Given the description of an element on the screen output the (x, y) to click on. 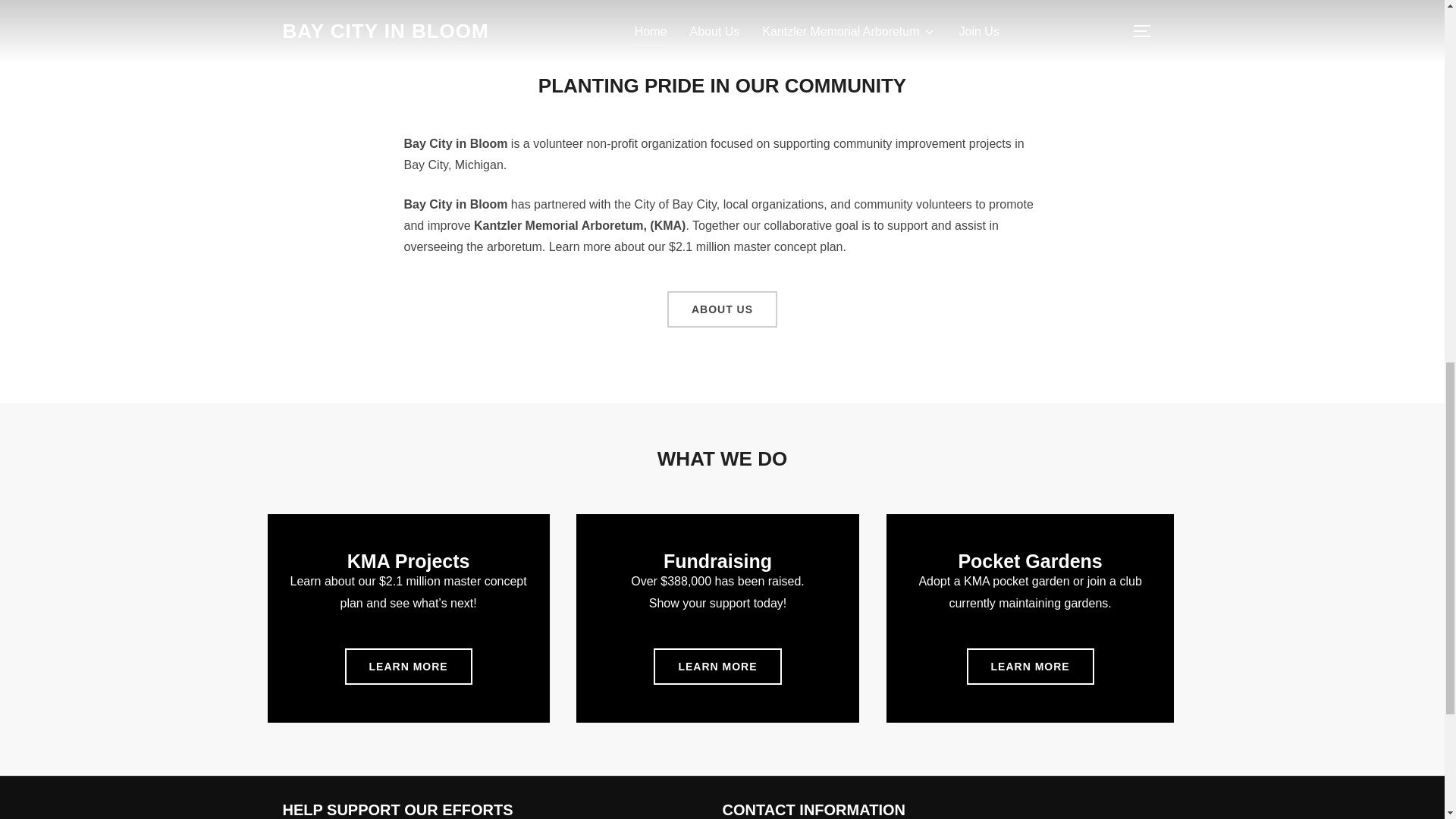
LEARN MORE (1030, 666)
LEARN MORE (716, 666)
LEARN MORE (408, 666)
ABOUT US (721, 309)
